Given the description of an element on the screen output the (x, y) to click on. 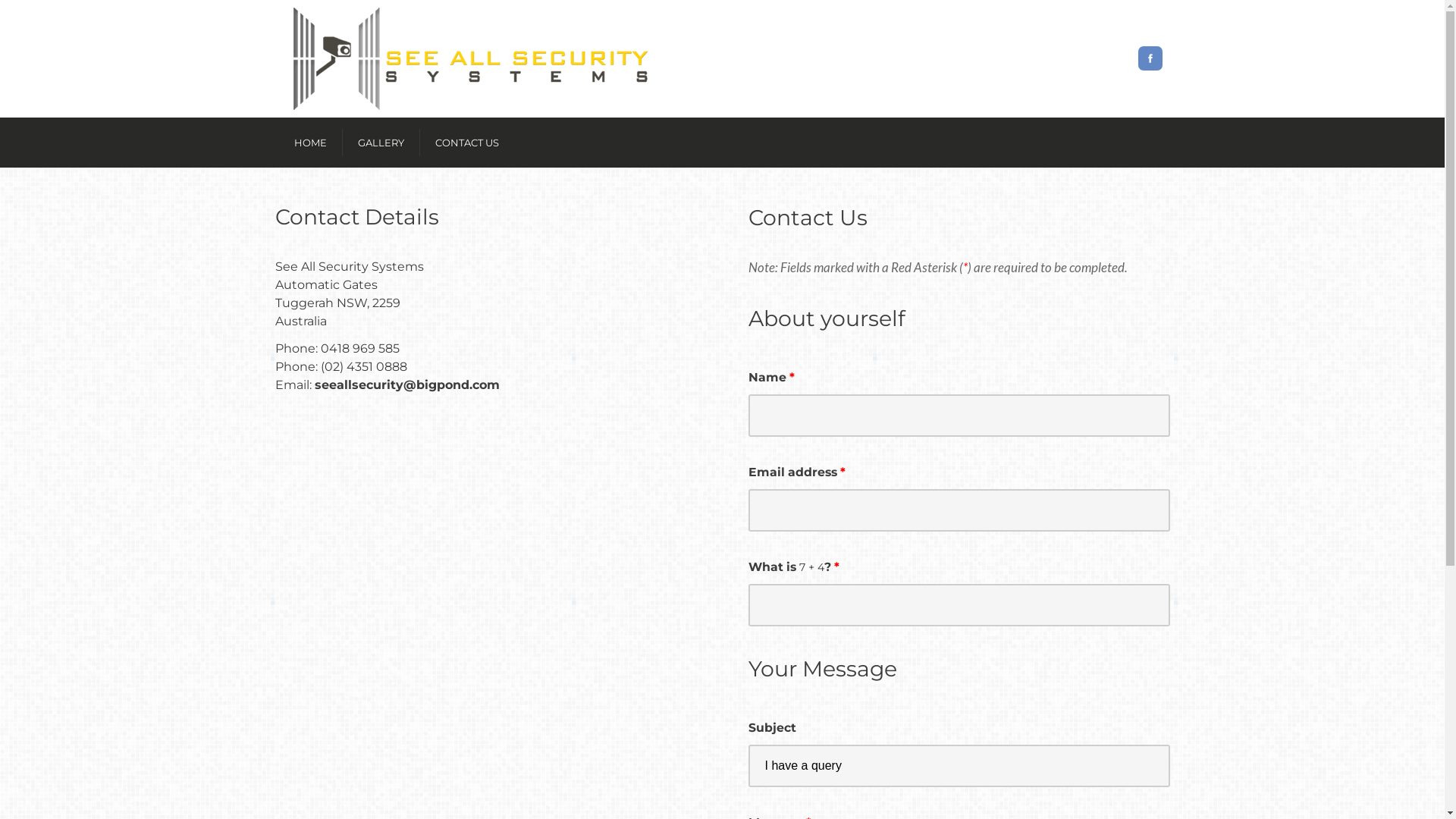
GALLERY Element type: text (380, 142)
HOME Element type: text (310, 142)
CONTACT US Element type: text (467, 142)
seeallsecurity@bigpond.com Element type: text (405, 384)
Embedded Google map Element type: hover (425, 563)
Facebook Element type: text (1149, 58)
